Given the description of an element on the screen output the (x, y) to click on. 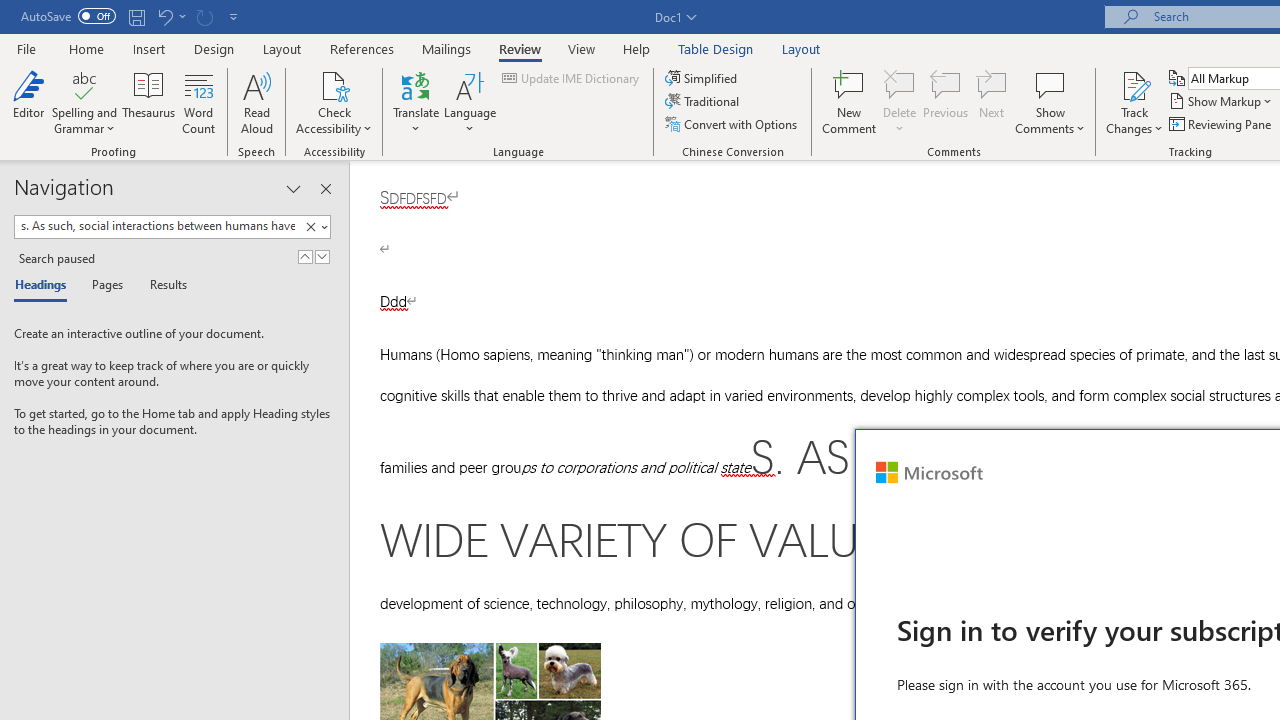
Delete (900, 84)
Previous Result (304, 256)
Reviewing Pane (1221, 124)
Clear (310, 227)
Next (991, 102)
Previous (946, 102)
Check Accessibility (334, 84)
